Given the description of an element on the screen output the (x, y) to click on. 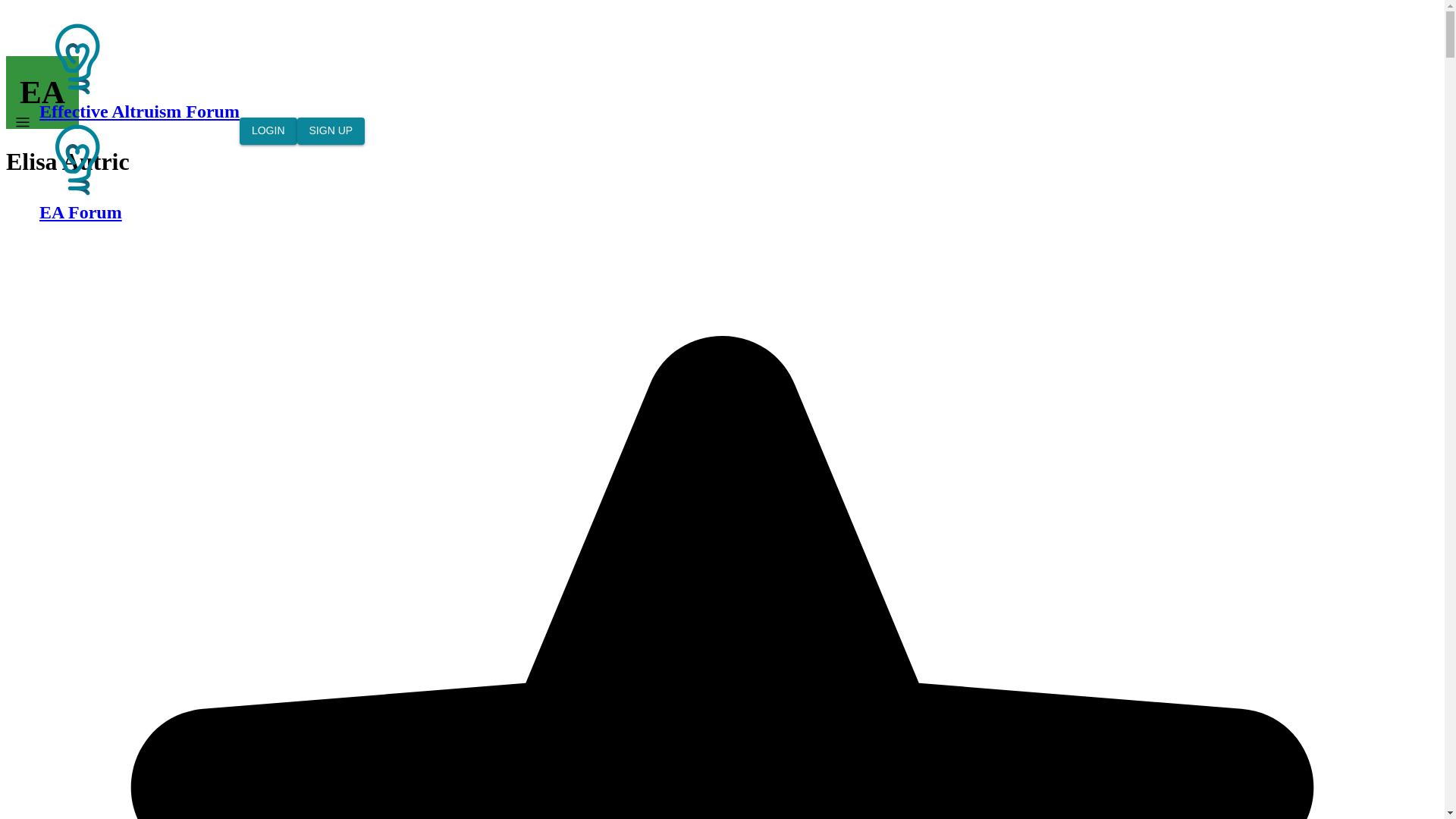
Effective Altruism Forum (139, 71)
Effective Altruism Forum (77, 160)
EA (41, 92)
EA Forum (139, 171)
LOGIN (268, 130)
SIGN UP (331, 130)
Effective Altruism Forum (77, 59)
